Given the description of an element on the screen output the (x, y) to click on. 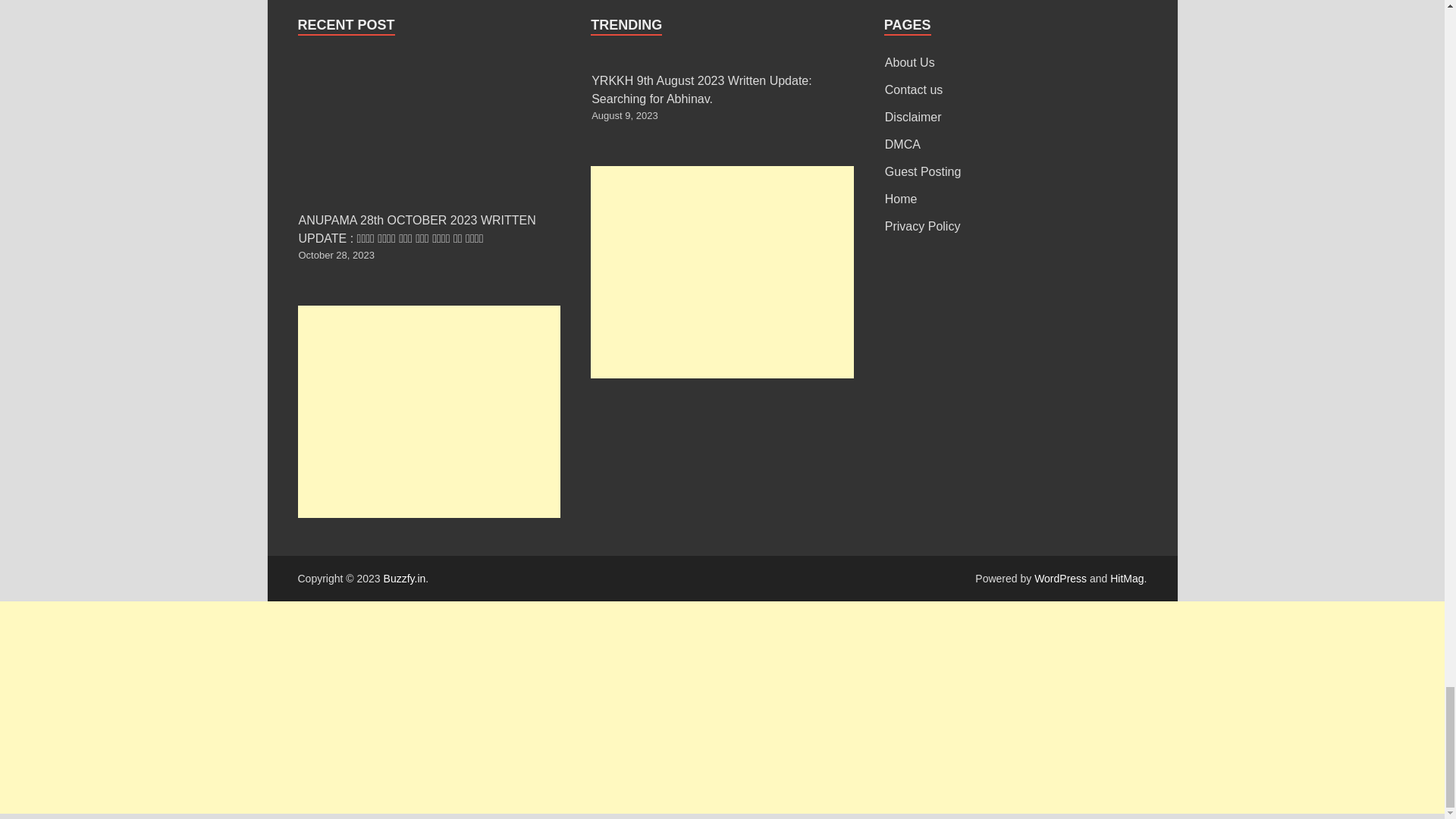
Contact us (913, 89)
About Us (909, 62)
YRKKH 9th August 2023 Written Update: Searching for Abhinav. (701, 89)
Buzzfy.in (405, 578)
